Given the description of an element on the screen output the (x, y) to click on. 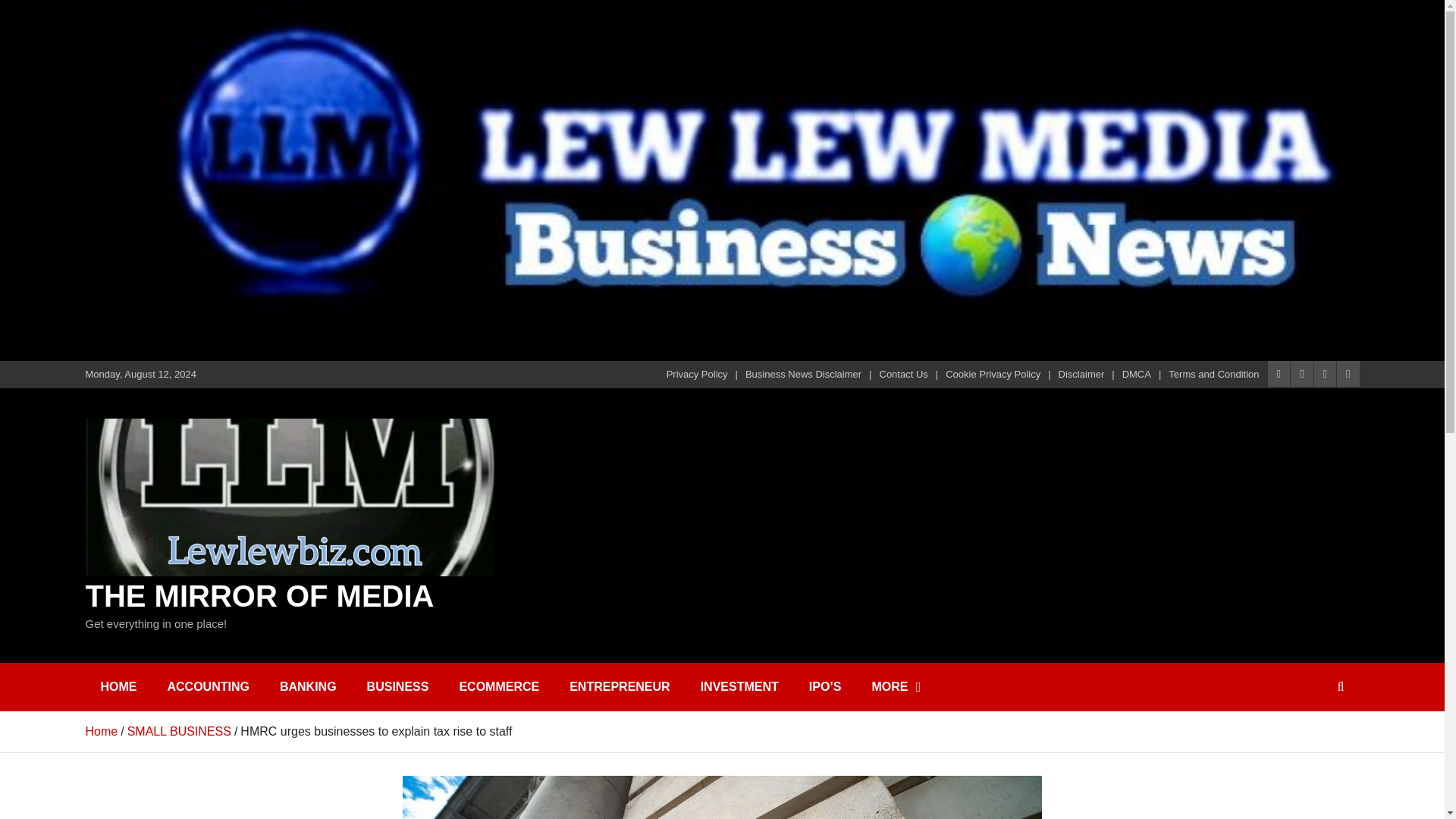
THE MIRROR OF MEDIA (258, 595)
DMCA (1136, 374)
BANKING (308, 686)
ENTREPRENEUR (619, 686)
Business News Disclaimer (803, 374)
Home (100, 730)
ACCOUNTING (207, 686)
ECOMMERCE (499, 686)
Contact Us (903, 374)
INVESTMENT (739, 686)
